Given the description of an element on the screen output the (x, y) to click on. 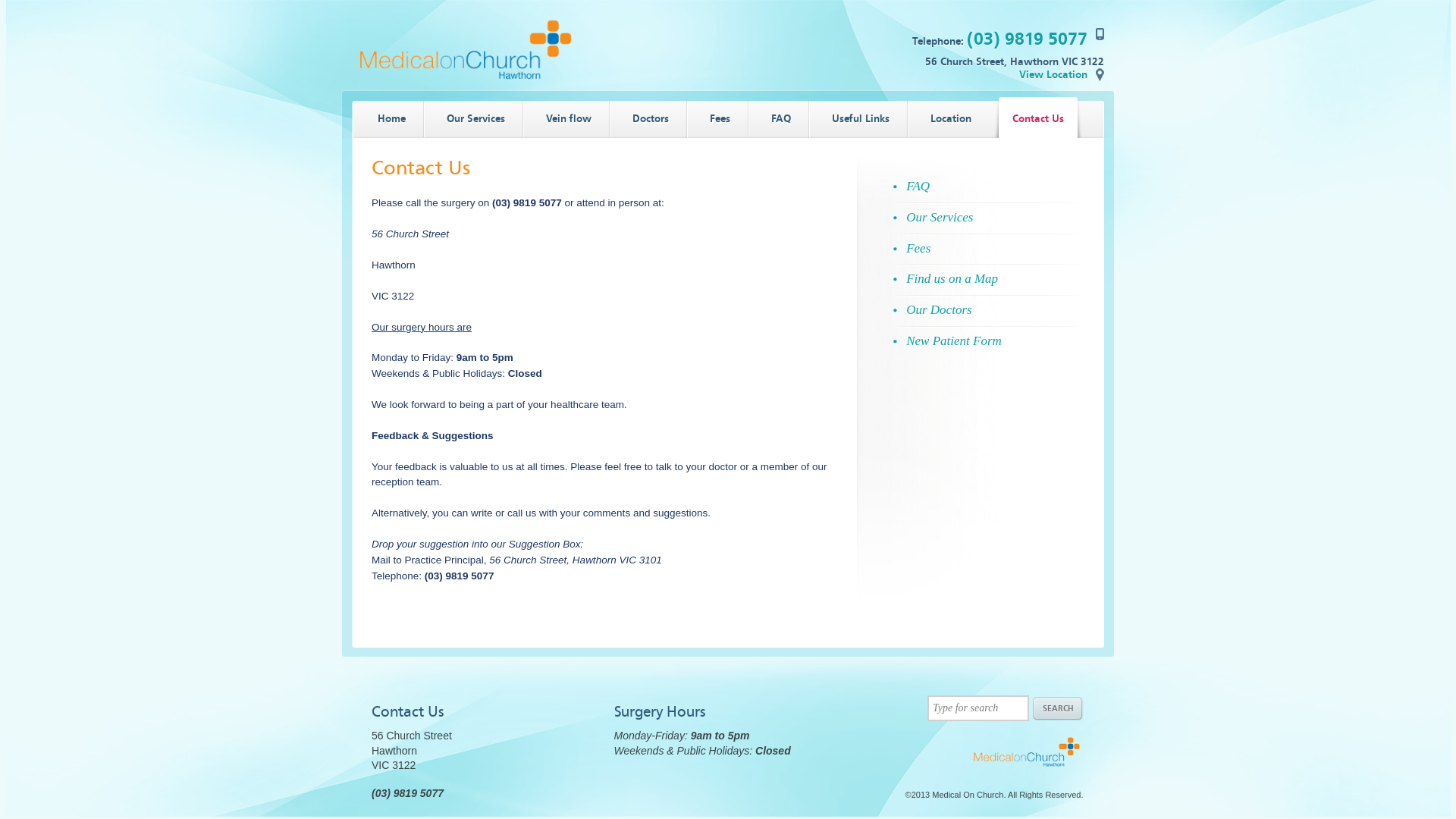
Search Element type: text (1057, 708)
Our Services Element type: text (985, 217)
Contact Us Element type: text (1032, 117)
Find us on a Map Element type: text (985, 278)
Fees Element type: text (713, 117)
Location Element type: text (945, 117)
Doctors Element type: text (644, 117)
New Patient Form Element type: text (985, 341)
Our Services Element type: text (469, 117)
View Location Element type: text (1061, 74)
Fees Element type: text (985, 248)
FAQ Element type: text (985, 186)
Useful Links Element type: text (854, 117)
(03) 9819 5077 Element type: text (1026, 38)
FAQ Element type: text (775, 117)
Home Element type: text (385, 117)
Our Doctors Element type: text (985, 310)
Vein flow Element type: text (563, 117)
